Given the description of an element on the screen output the (x, y) to click on. 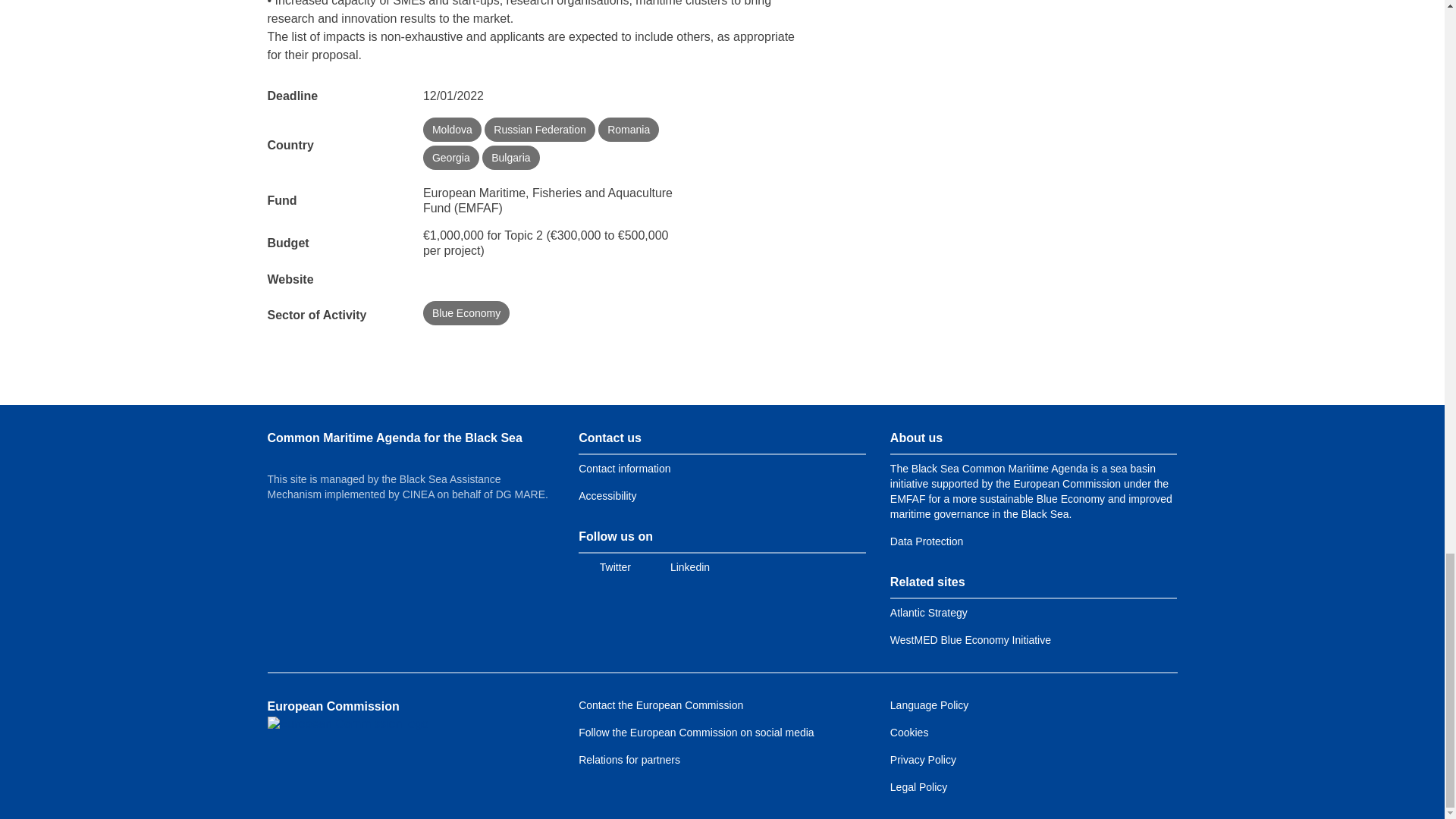
European Commission (347, 724)
Contact information (623, 468)
Accessibility (607, 495)
Twitter (604, 566)
Linkedin (679, 566)
Common Maritime Agenda for the Black Sea (393, 437)
